Given the description of an element on the screen output the (x, y) to click on. 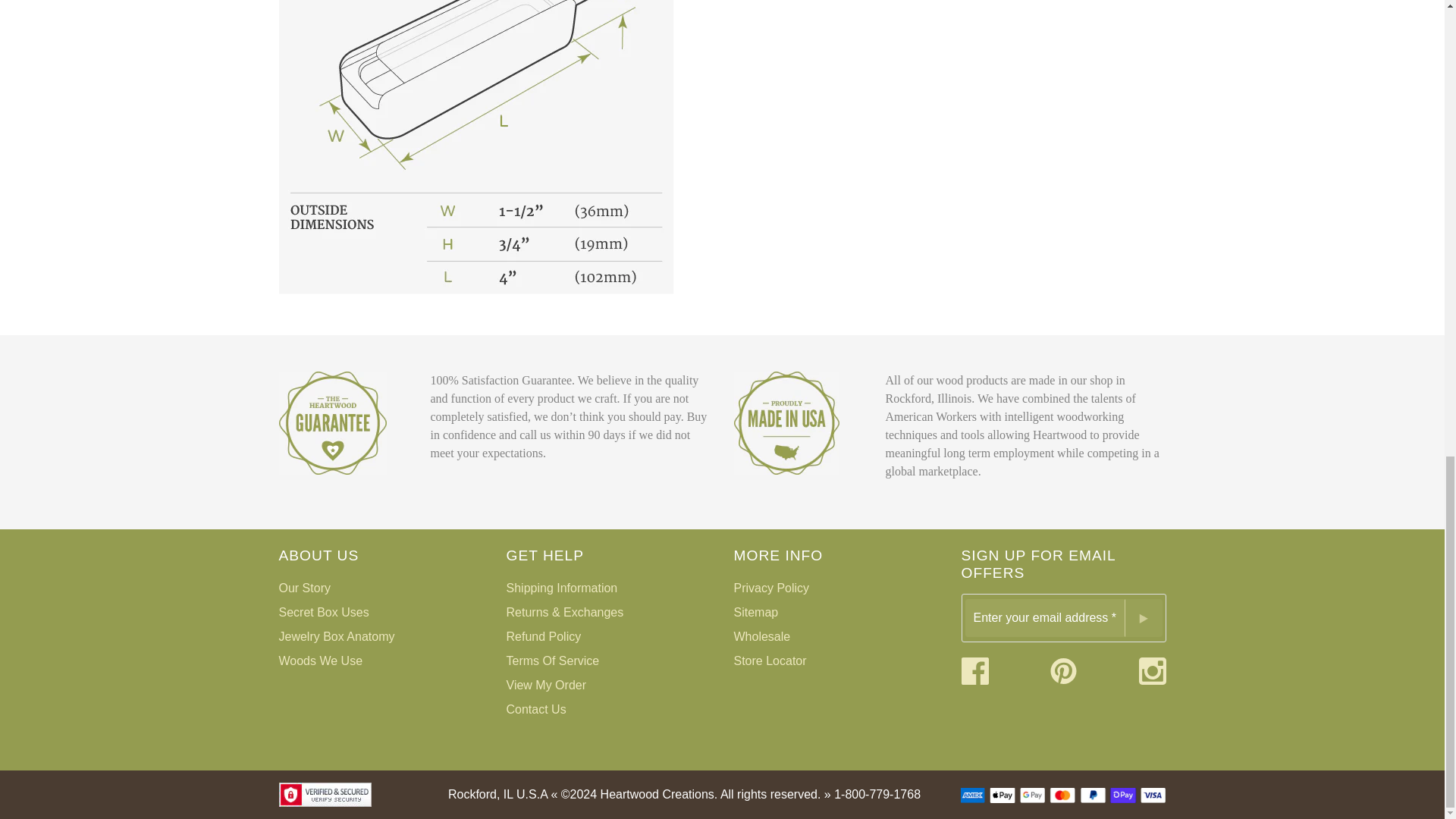
Sign up for our newsletter (1043, 617)
